Given the description of an element on the screen output the (x, y) to click on. 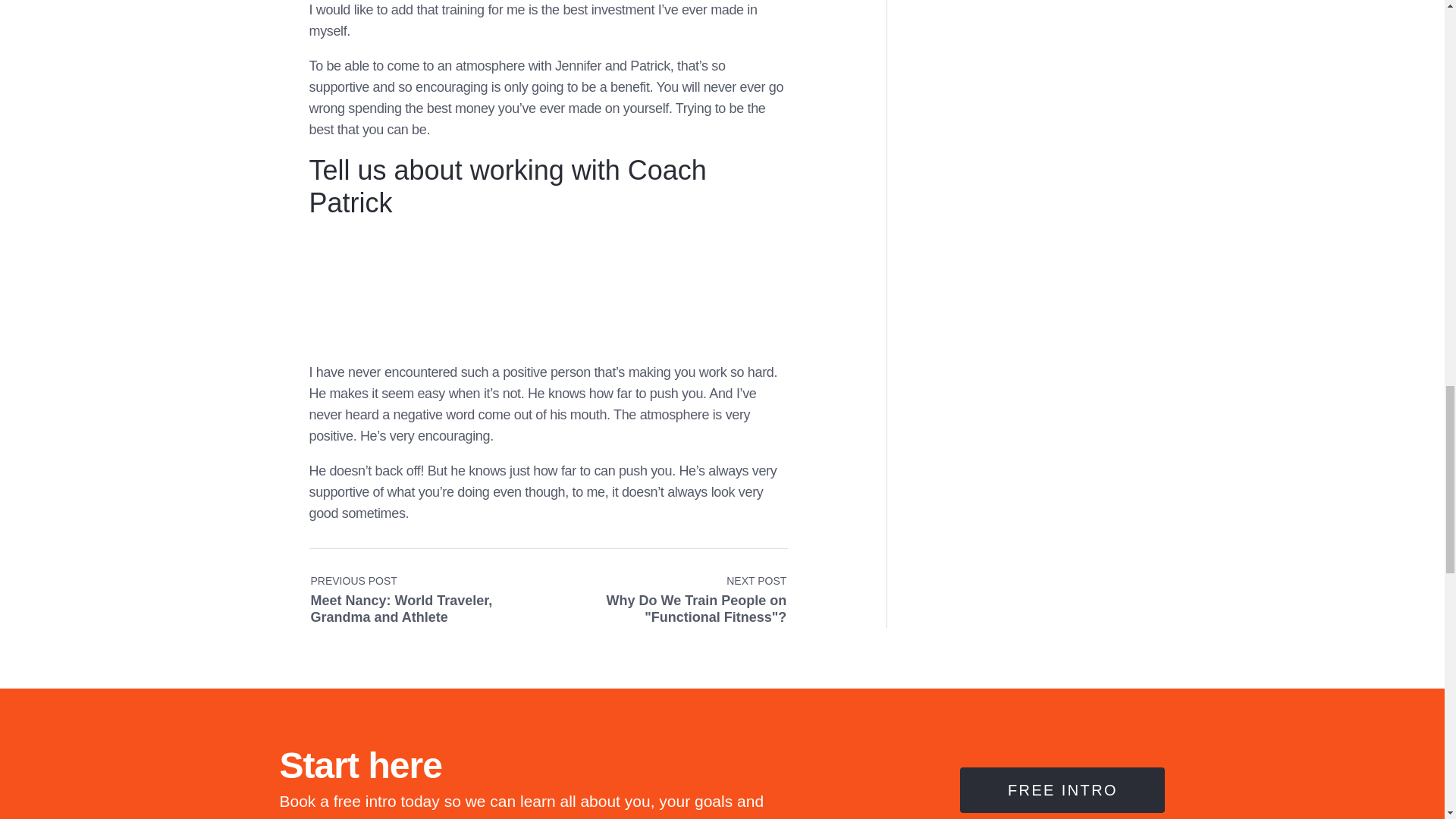
Meet Nancy:  World Traveler, Grandma and Athlete (429, 591)
Why Do We Train People on "Functional Fitness"? (668, 591)
FREE INTRO (668, 591)
